Given the description of an element on the screen output the (x, y) to click on. 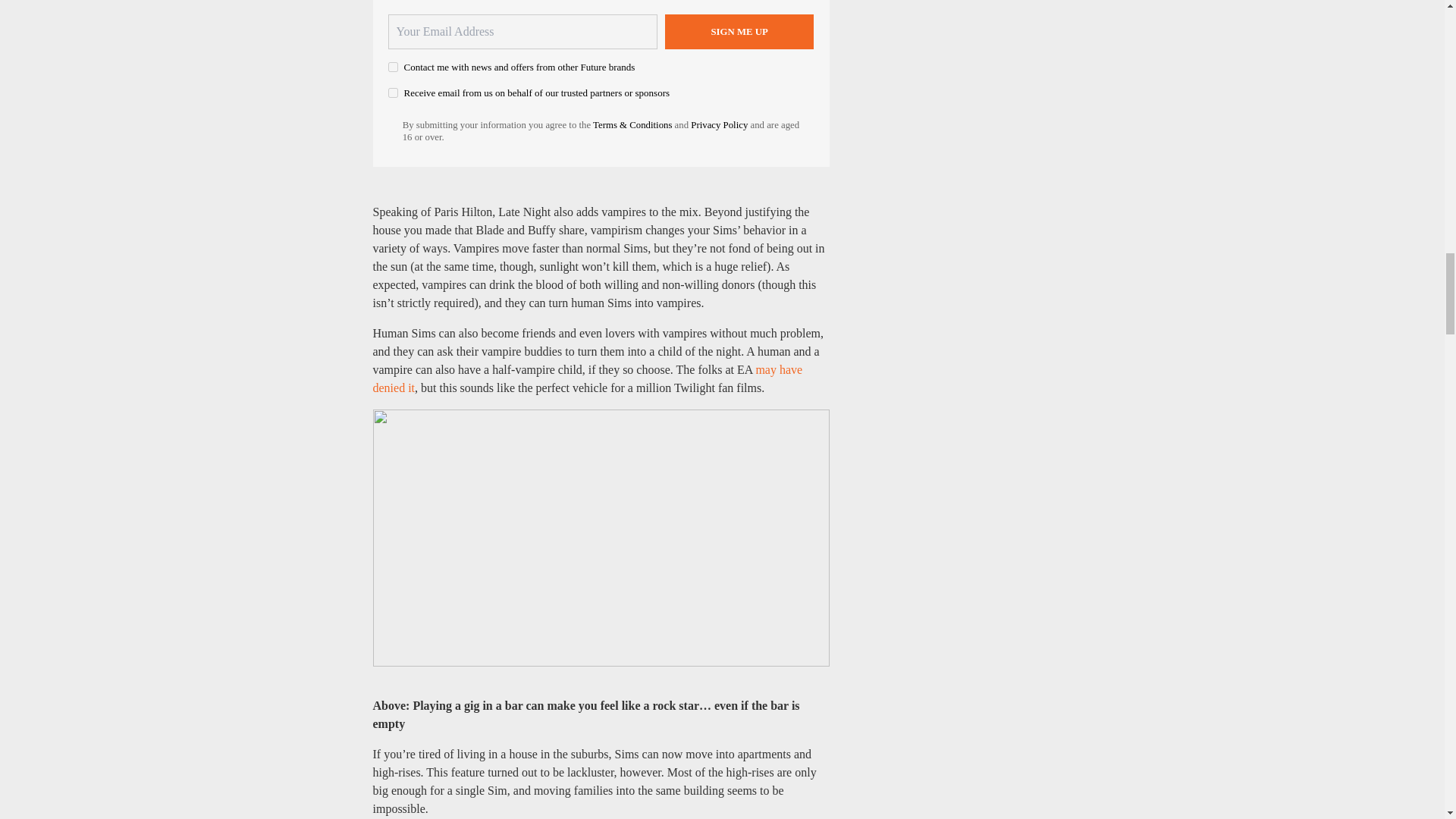
on (392, 92)
on (392, 67)
Sign me up (739, 31)
